Given the description of an element on the screen output the (x, y) to click on. 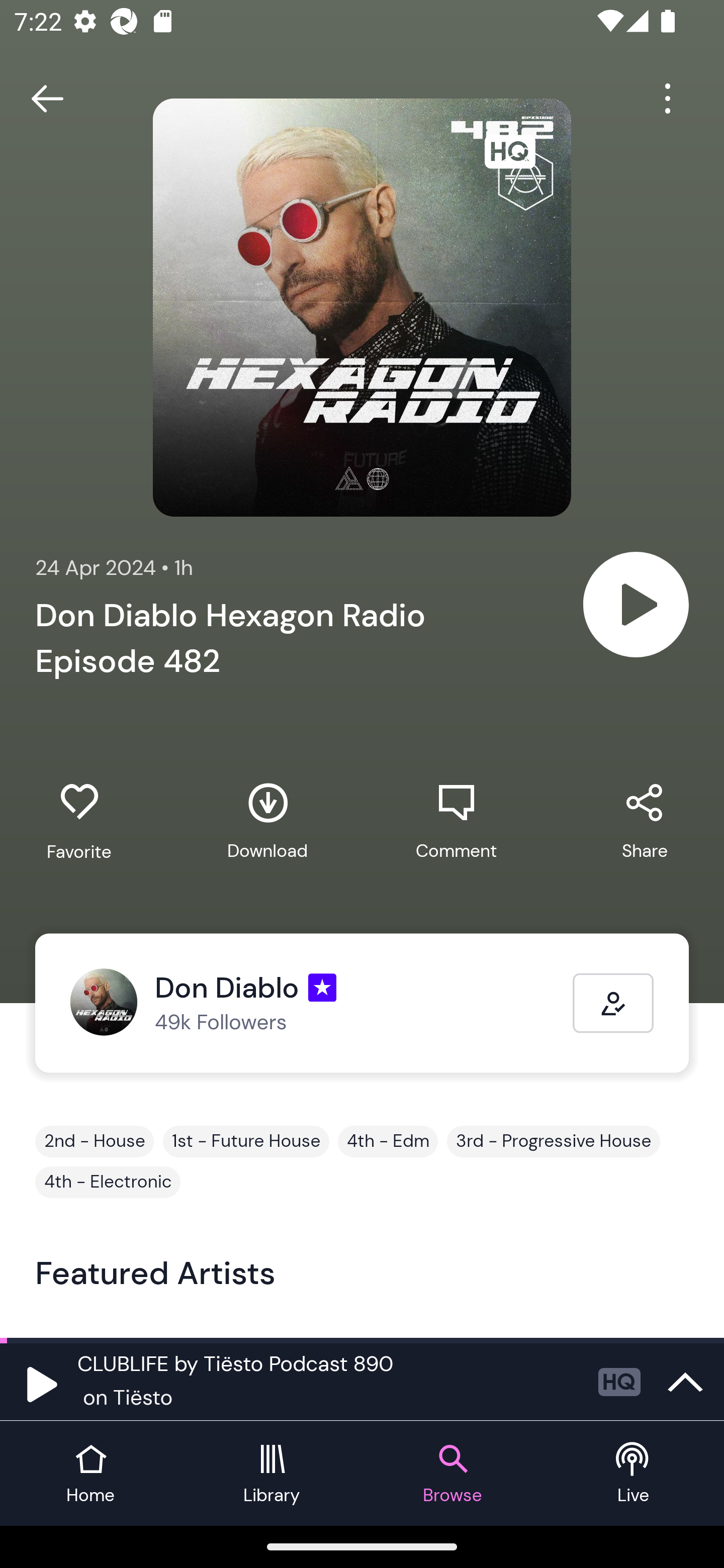
Favorite (79, 821)
Download (267, 821)
Comment (455, 821)
Share (644, 821)
Don Diablo, 49k Followers Don Diablo 49k Followers (321, 1003)
Following (612, 1003)
2nd - House (94, 1141)
1st - Future House (245, 1141)
4th - Edm (388, 1141)
3rd - Progressive House (553, 1141)
4th - Electronic (107, 1181)
Home tab Home (90, 1473)
Library tab Library (271, 1473)
Browse tab Browse (452, 1473)
Live tab Live (633, 1473)
